Given the description of an element on the screen output the (x, y) to click on. 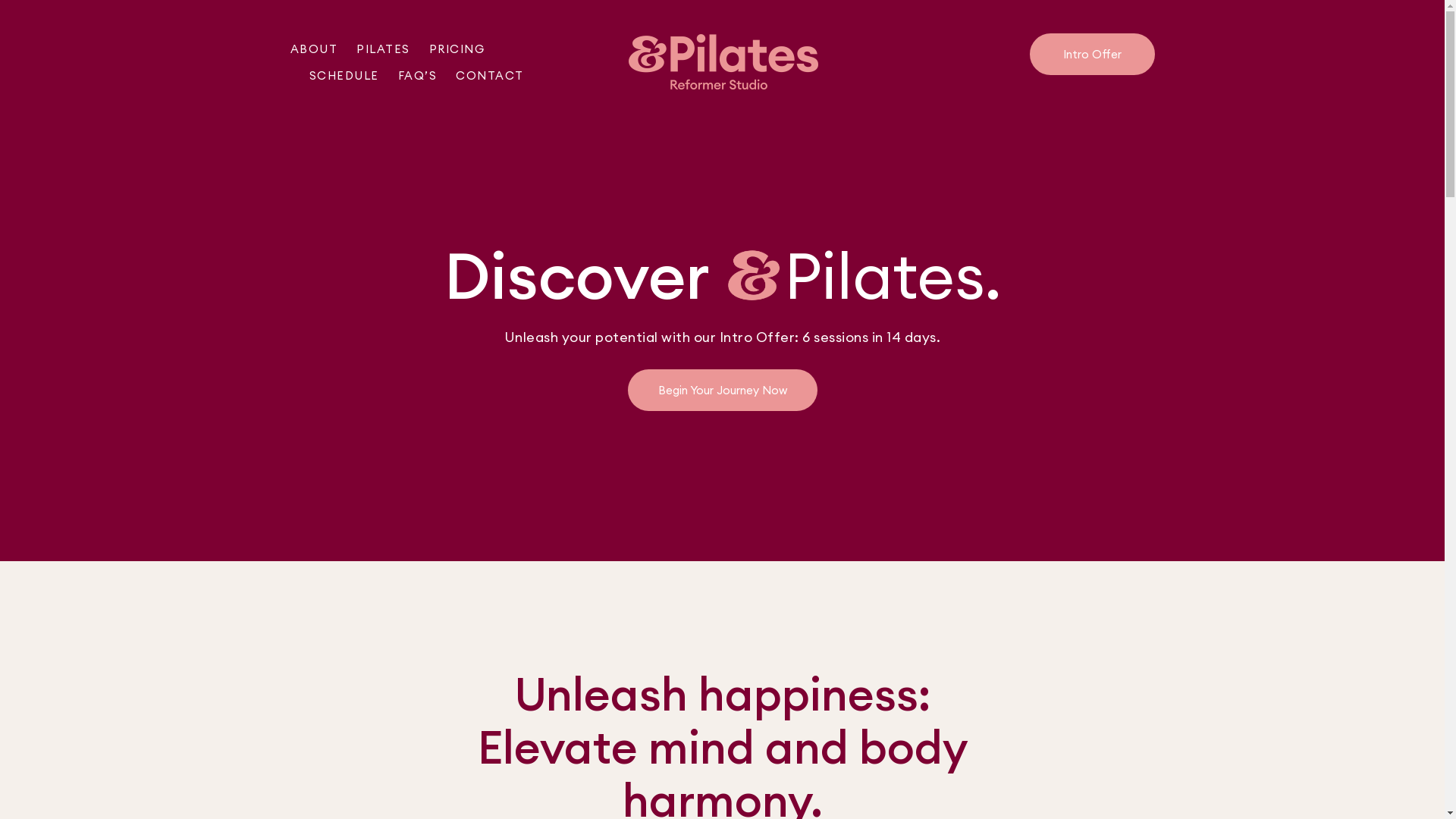
CONTACT Element type: text (489, 75)
Begin Your Journey Now Element type: text (722, 390)
PILATES Element type: text (383, 47)
SCHEDULE Element type: text (344, 75)
Intro Offer Element type: text (1092, 53)
PRICING Element type: text (457, 47)
ABOUT Element type: text (313, 47)
